Given the description of an element on the screen output the (x, y) to click on. 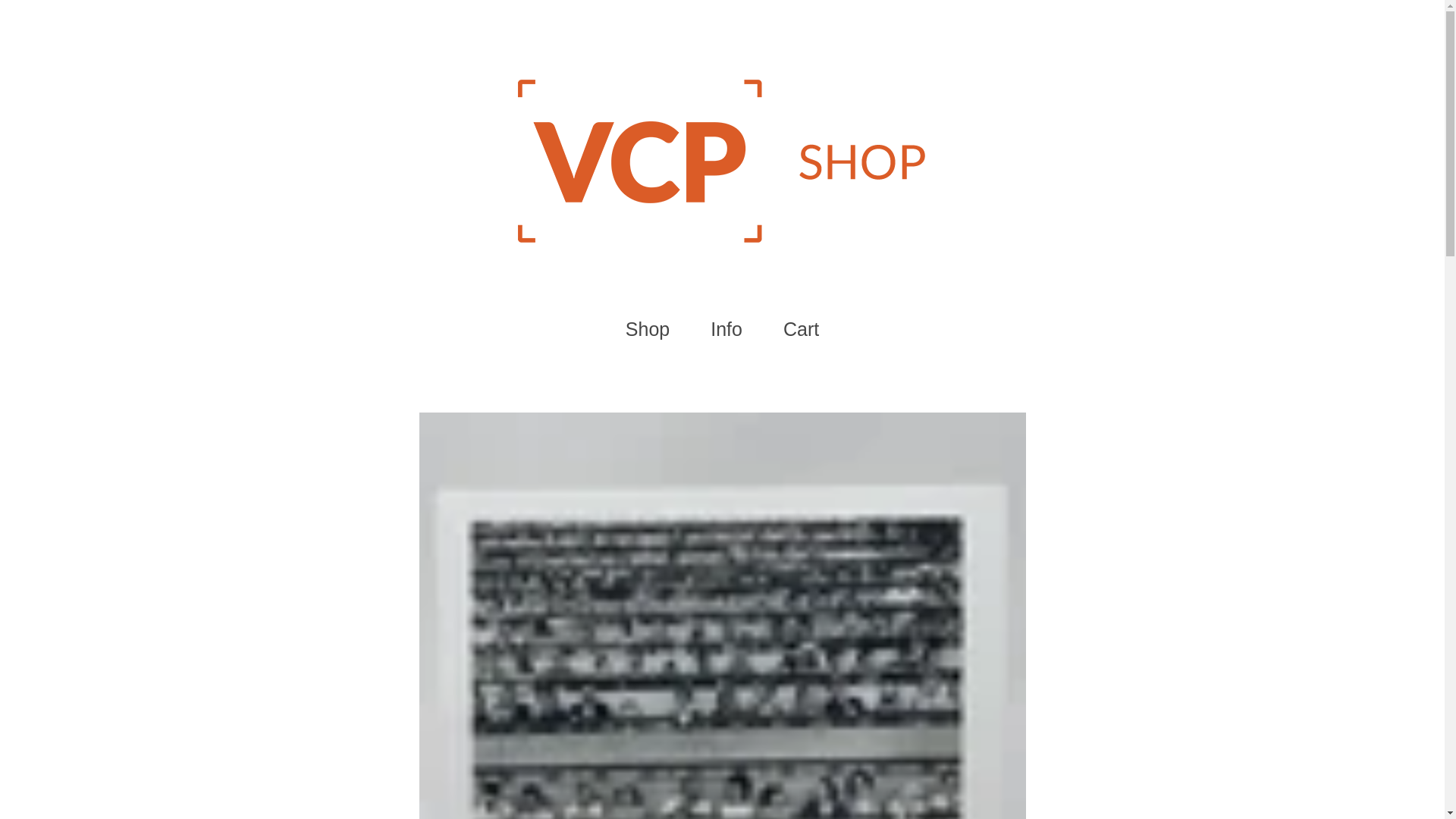
Shop (647, 328)
Cart (801, 328)
Info (726, 328)
